Given the description of an element on the screen output the (x, y) to click on. 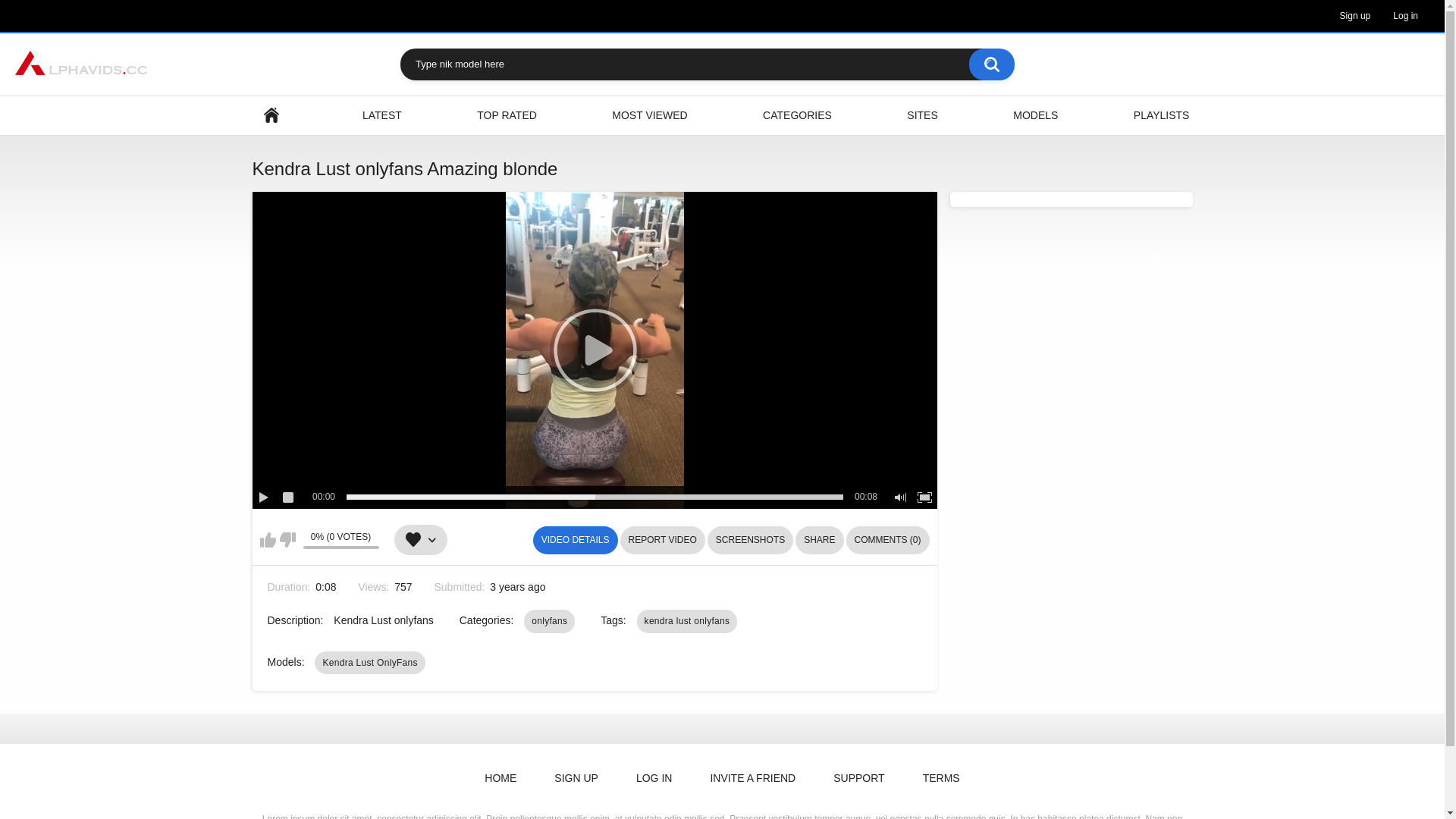
REPORT VIDEO Element type: text (662, 539)
PLAYLISTS Element type: text (1161, 115)
I don't like this video Element type: text (286, 539)
HOME Element type: text (270, 115)
INVITE A FRIEND Element type: text (752, 777)
CATEGORIES Element type: text (796, 115)
VIDEO DETAILS Element type: text (575, 539)
I like this video Element type: text (267, 539)
SHARE Element type: text (819, 539)
MOST VIEWED Element type: text (649, 115)
Add to Favourites Element type: hover (420, 539)
Log in Element type: text (1405, 15)
MODELS Element type: text (1035, 115)
SUPPORT Element type: text (858, 777)
SIGN UP Element type: text (576, 777)
kendra lust onlyfans Element type: text (687, 620)
LOG IN Element type: text (654, 777)
Sign up Element type: text (1355, 15)
SITES Element type: text (921, 115)
HOME Element type: text (500, 777)
Kendra Lust OnlyFans Element type: text (369, 662)
onlyfans Element type: text (549, 620)
LATEST Element type: text (381, 115)
SCREENSHOTS Element type: text (750, 539)
COMMENTS (0) Element type: text (887, 539)
TOP RATED Element type: text (506, 115)
TERMS Element type: text (941, 777)
